Given the description of an element on the screen output the (x, y) to click on. 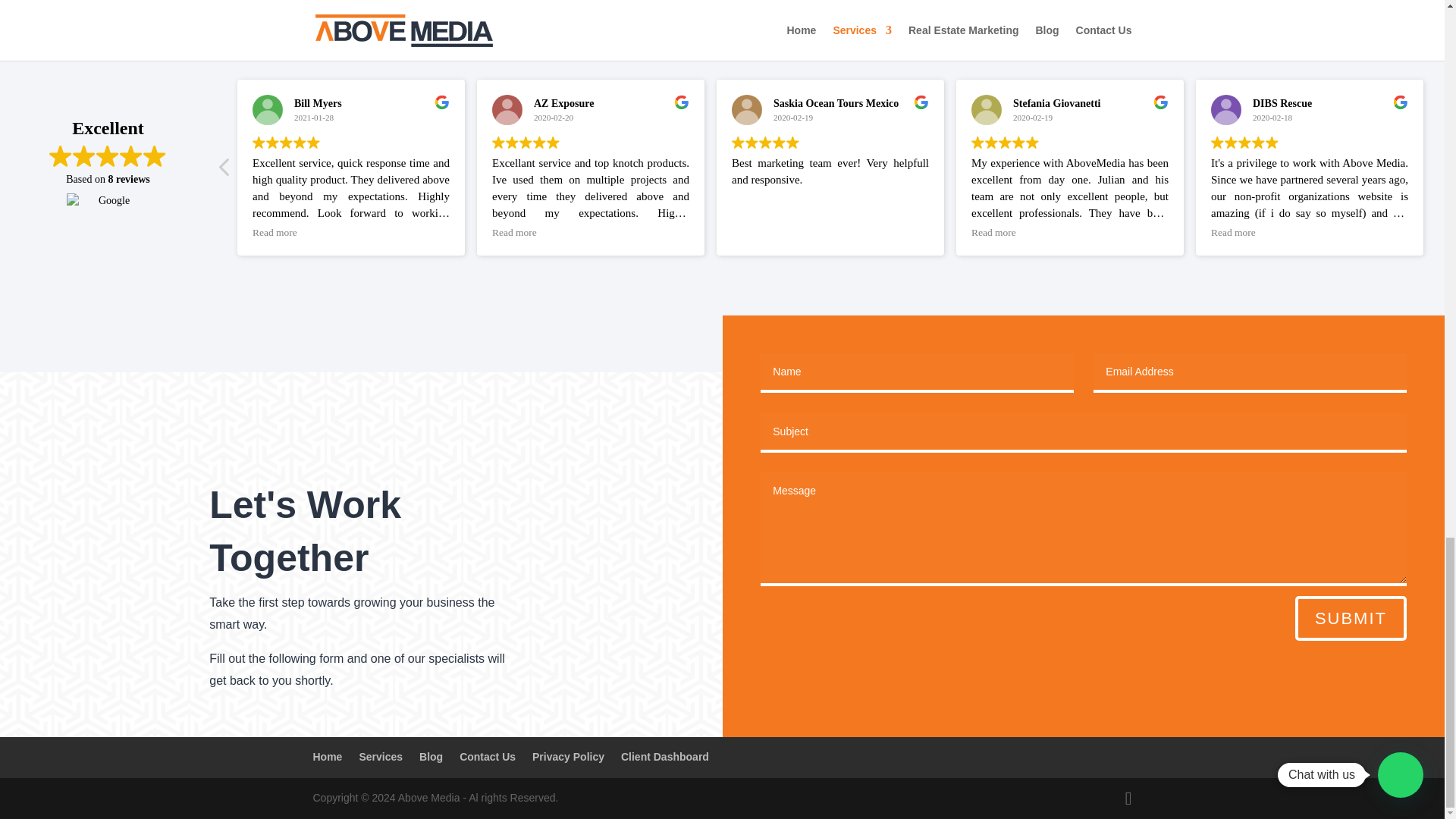
Blog (430, 756)
Contact Us (487, 756)
Services (380, 756)
Home (327, 756)
Privacy Policy (568, 756)
SUBMIT (1350, 618)
Client Dashboard (665, 756)
